Given the description of an element on the screen output the (x, y) to click on. 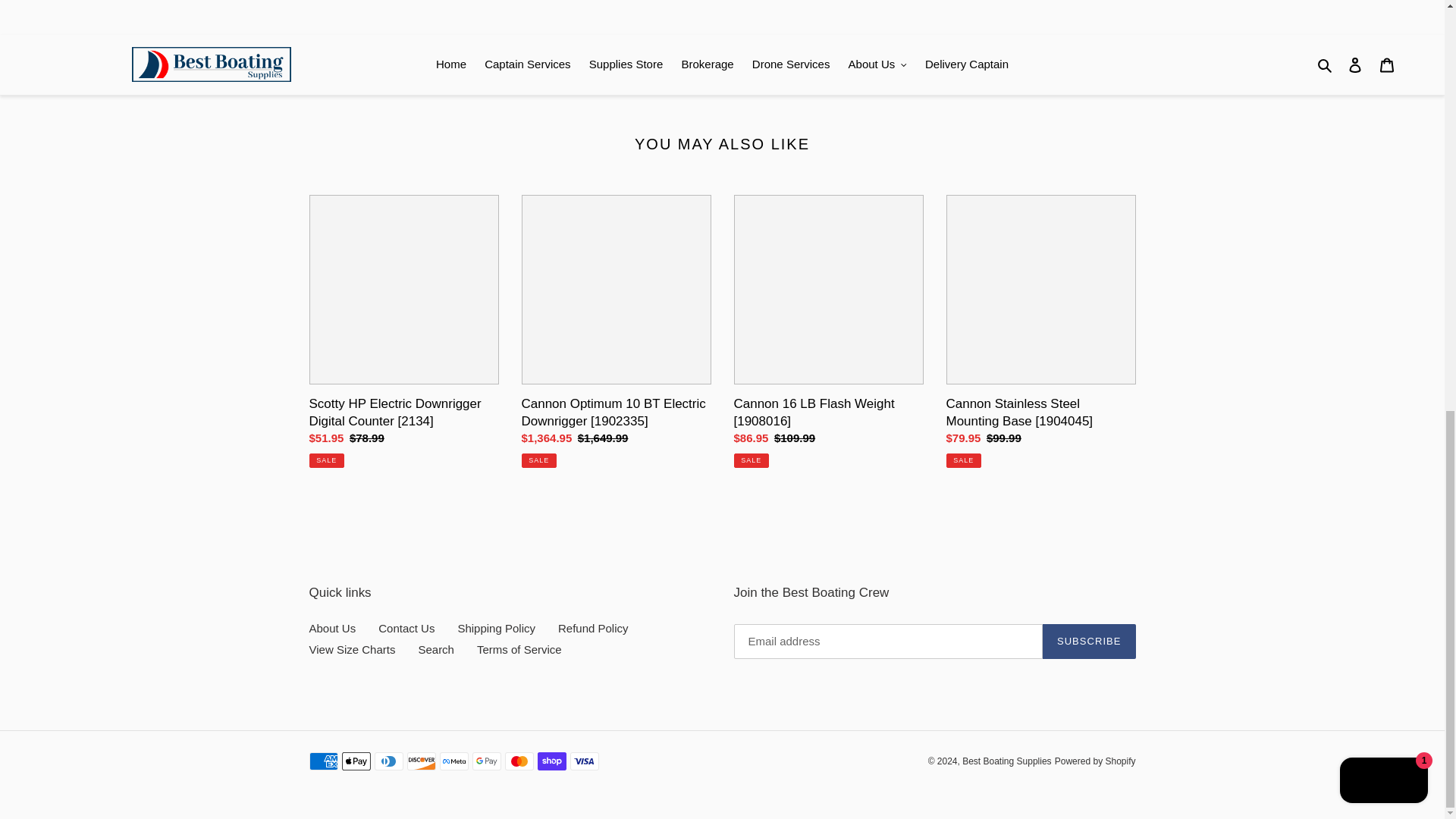
About Us (332, 627)
